Given the description of an element on the screen output the (x, y) to click on. 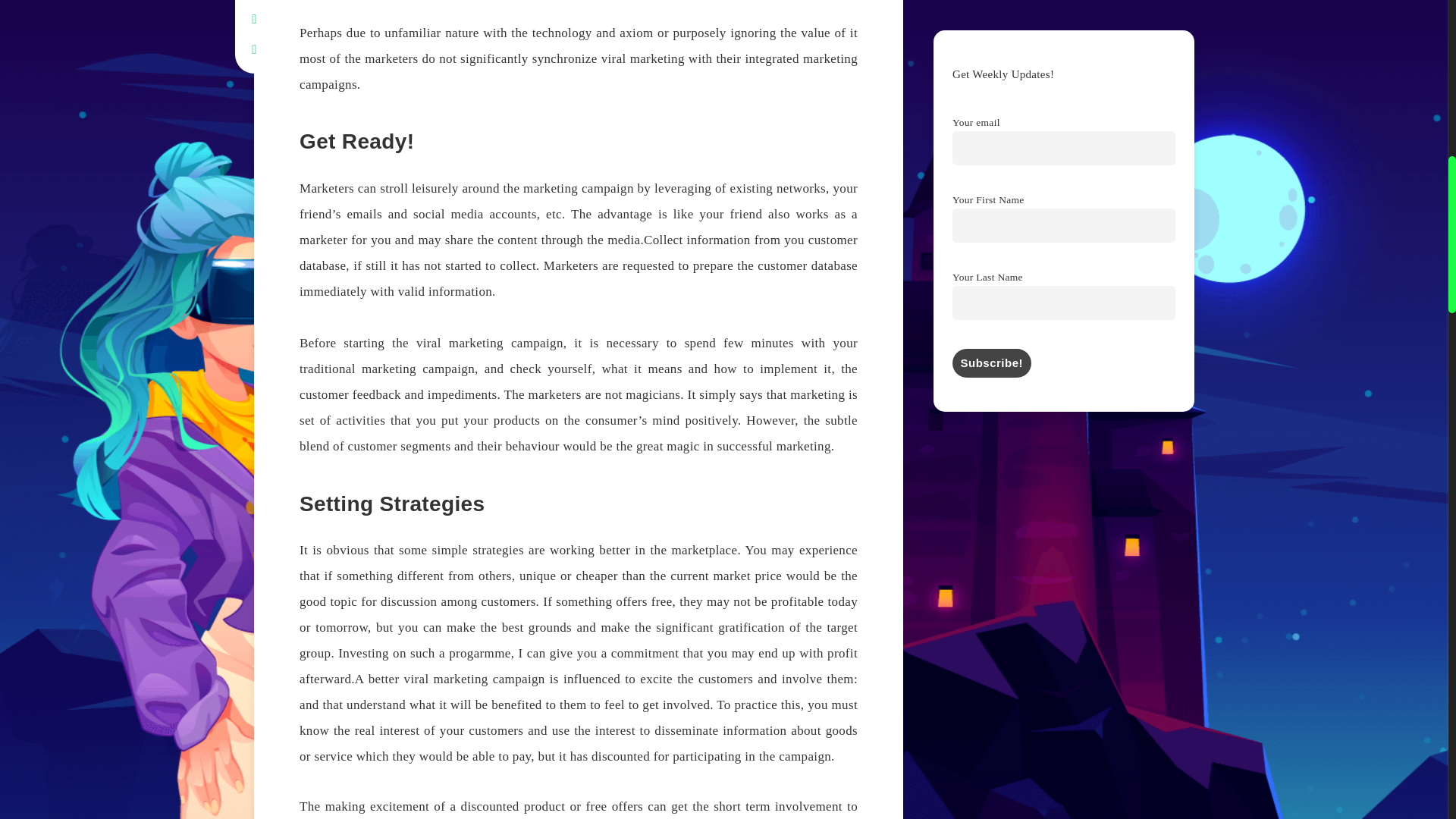
Subscribe! (991, 362)
